Given the description of an element on the screen output the (x, y) to click on. 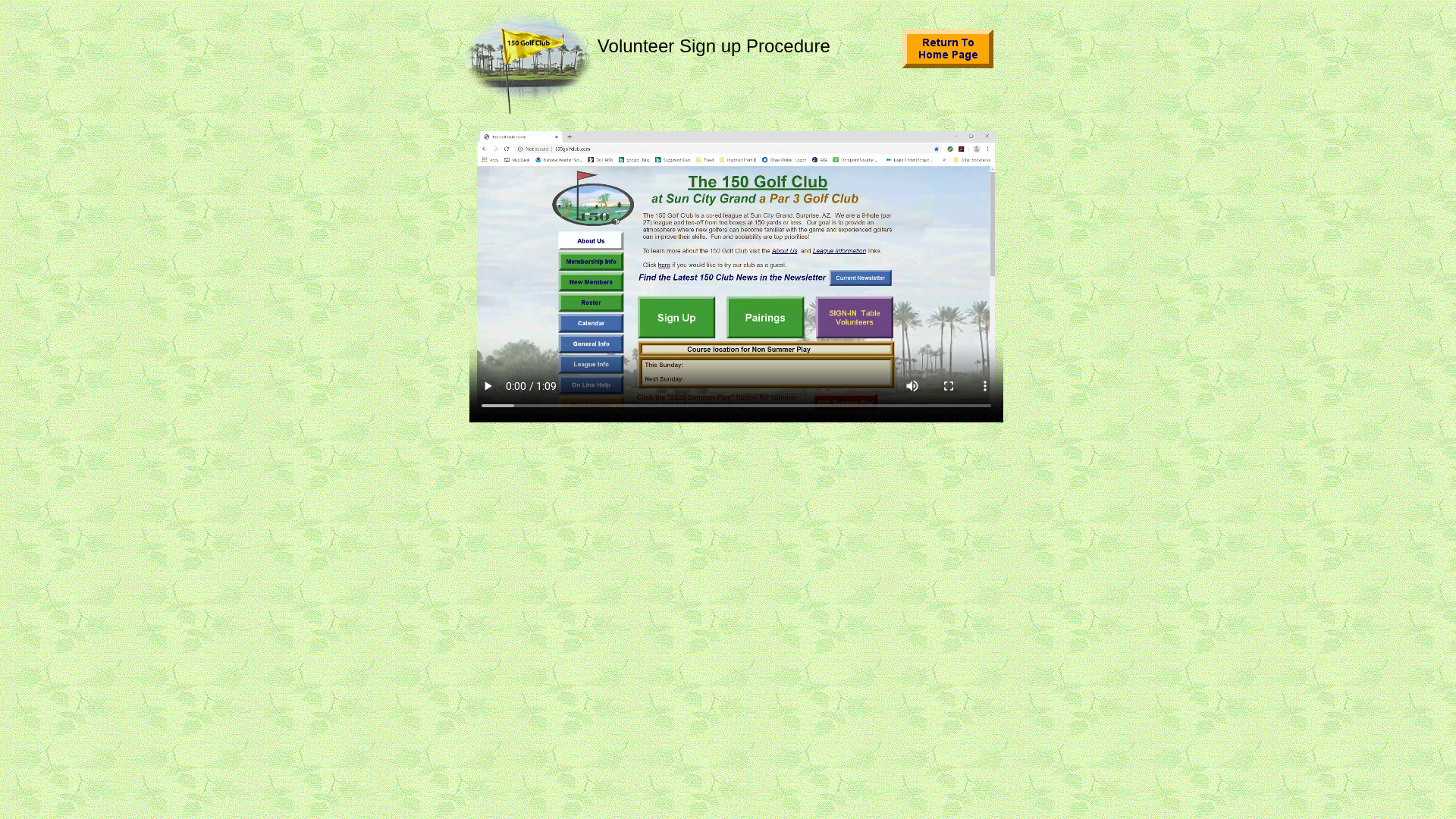
Home Page Element type: hover (947, 48)
